Given the description of an element on the screen output the (x, y) to click on. 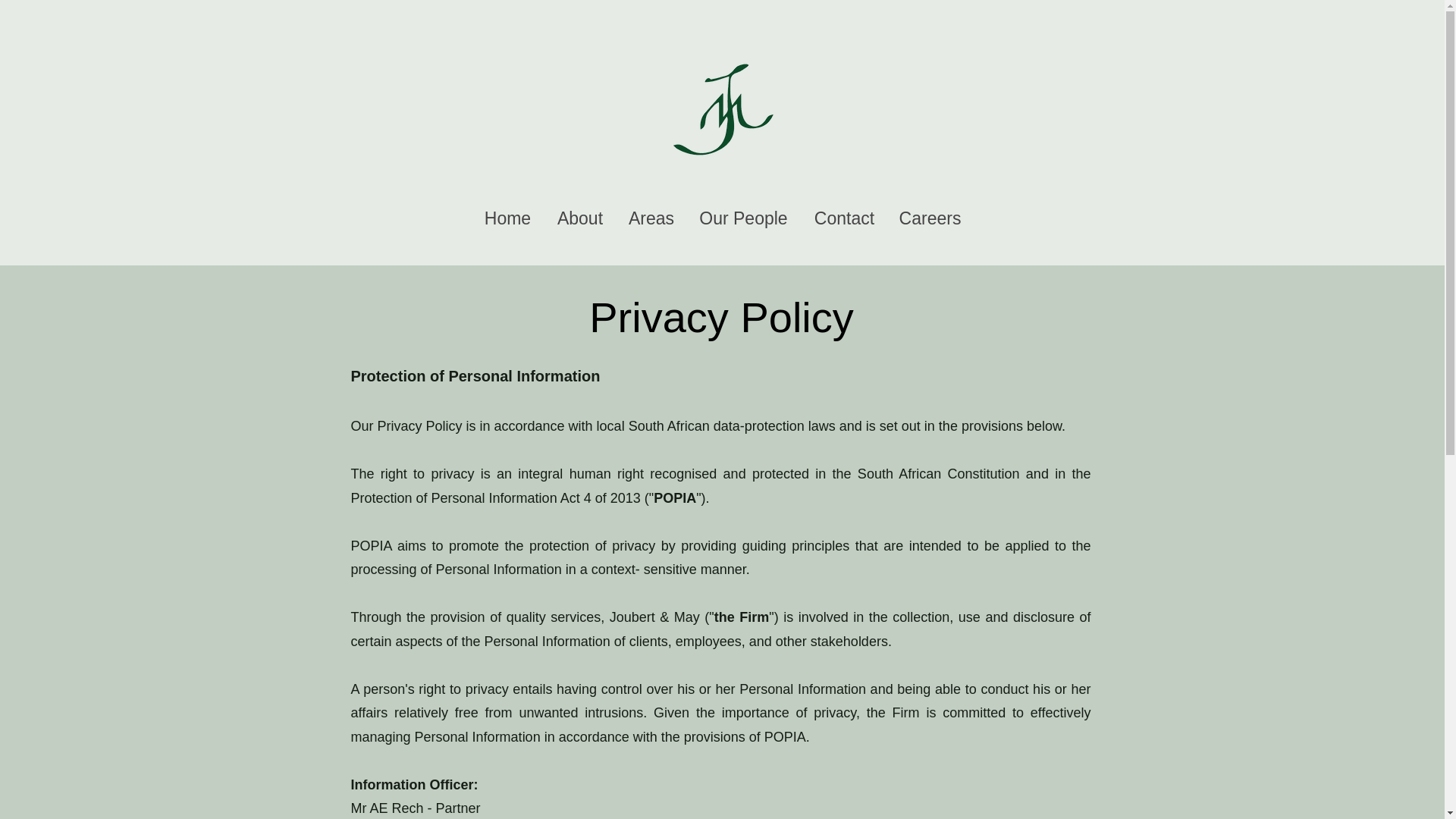
Home (507, 214)
Areas (650, 214)
Careers (929, 214)
Our People (742, 214)
Contact (843, 214)
About (579, 214)
